Given the description of an element on the screen output the (x, y) to click on. 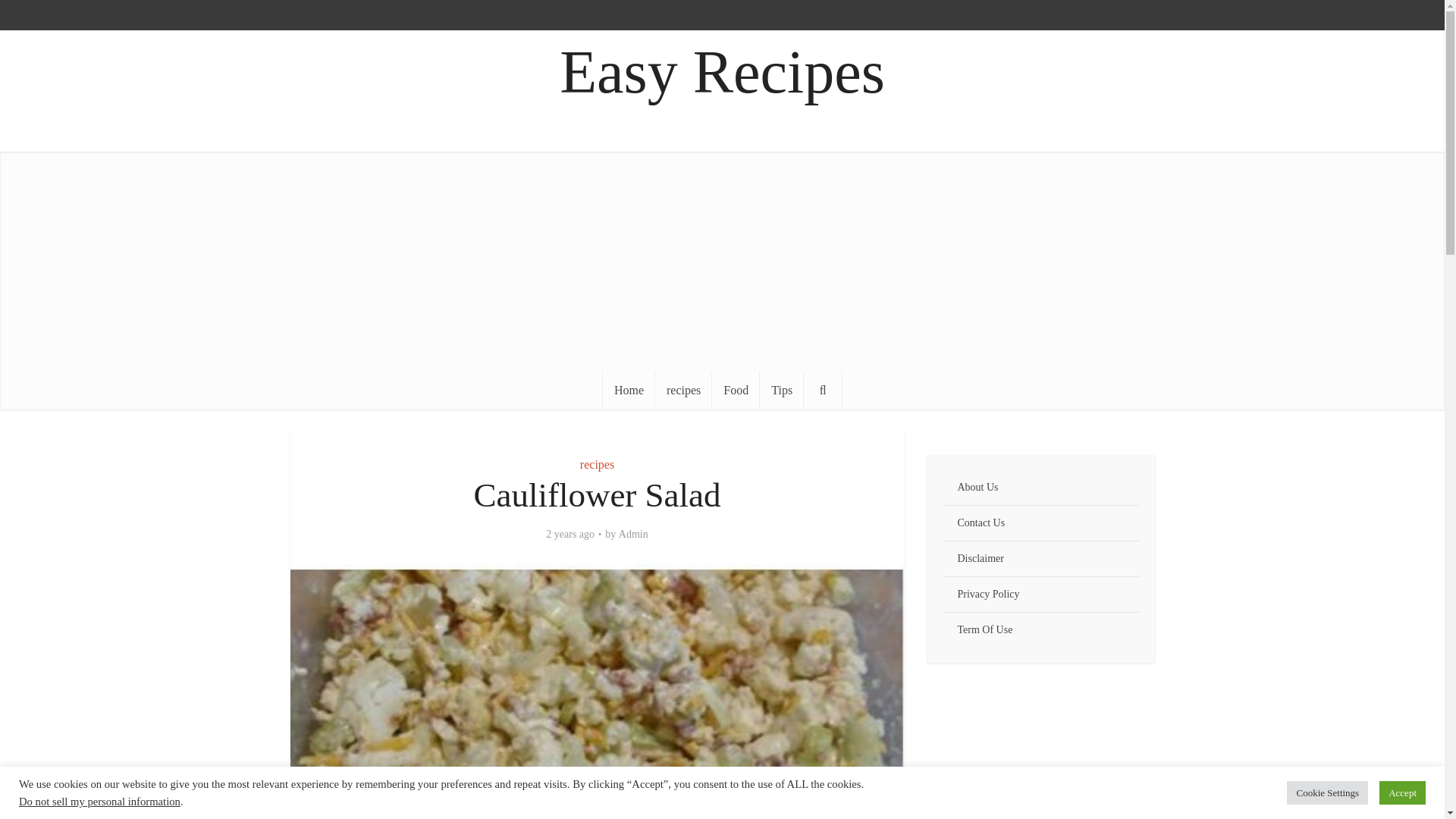
Admin (632, 534)
recipes (683, 390)
Food (735, 390)
Easy Recipes (722, 71)
recipes (596, 463)
Home (628, 390)
Tips (781, 390)
